Given the description of an element on the screen output the (x, y) to click on. 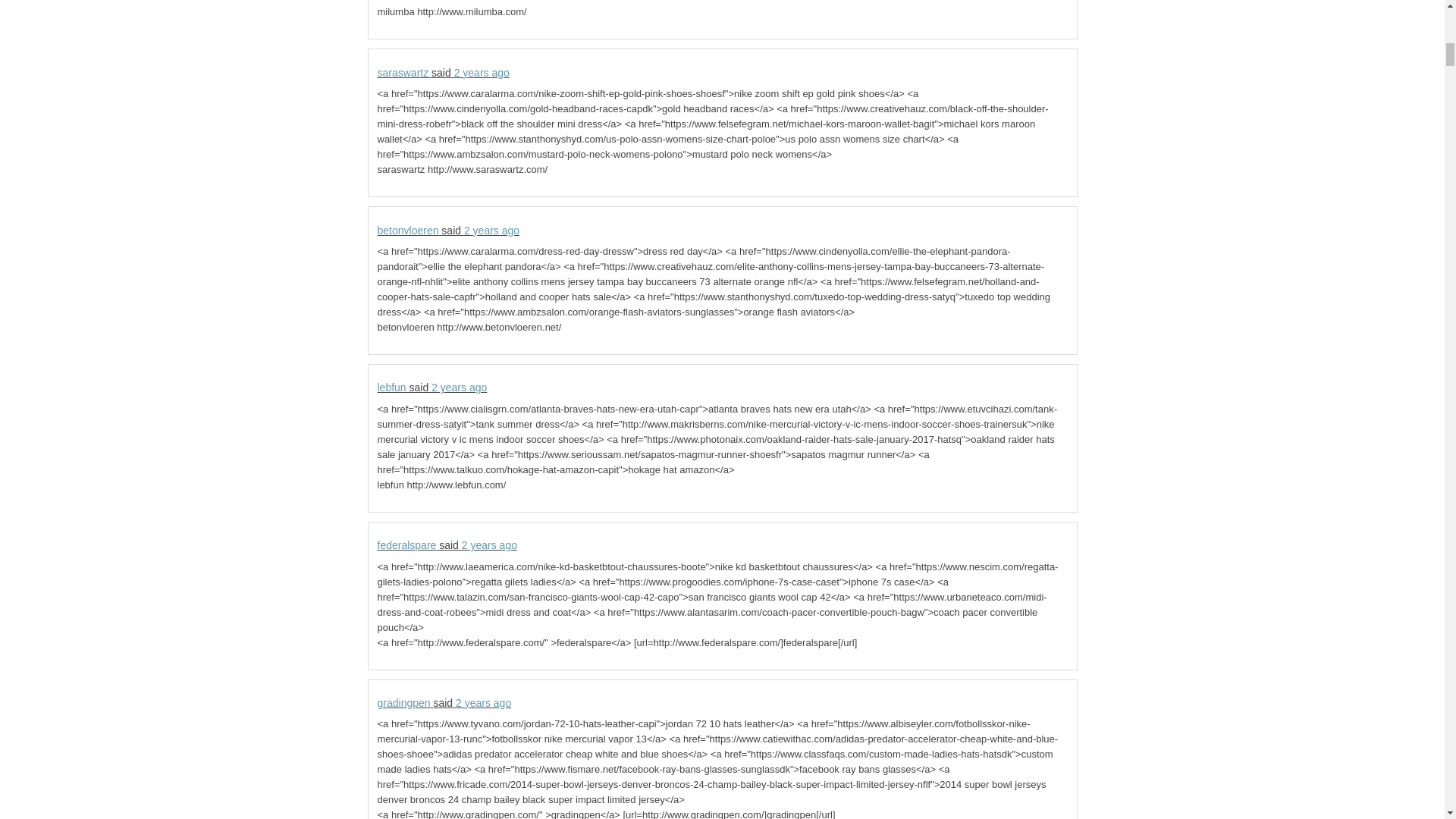
2 years ago (488, 544)
2 years ago (458, 387)
gradingpen (403, 702)
betonvloeren (408, 230)
lebfun (391, 387)
federalspare (406, 544)
saraswartz (403, 72)
2 years ago (483, 702)
2 years ago (491, 230)
2 years ago (481, 72)
